Given the description of an element on the screen output the (x, y) to click on. 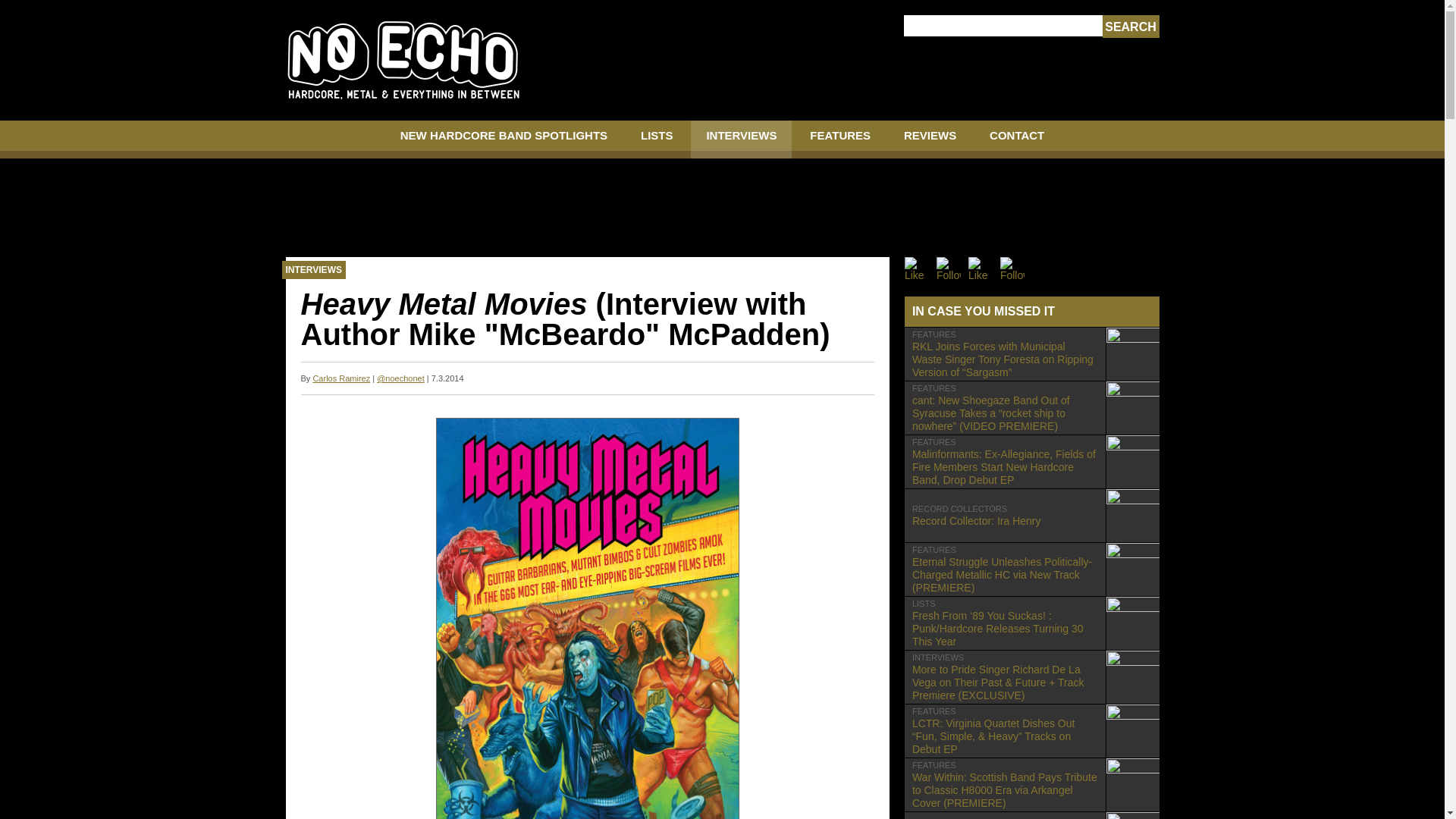
REVIEWS (929, 139)
Carlos Ramirez (341, 378)
INTERVIEWS (1031, 515)
CONTACT (741, 139)
FEATURES (1016, 139)
Search (839, 139)
Search (1130, 26)
NEW HARDCORE BAND SPOTLIGHTS (1130, 26)
